Given the description of an element on the screen output the (x, y) to click on. 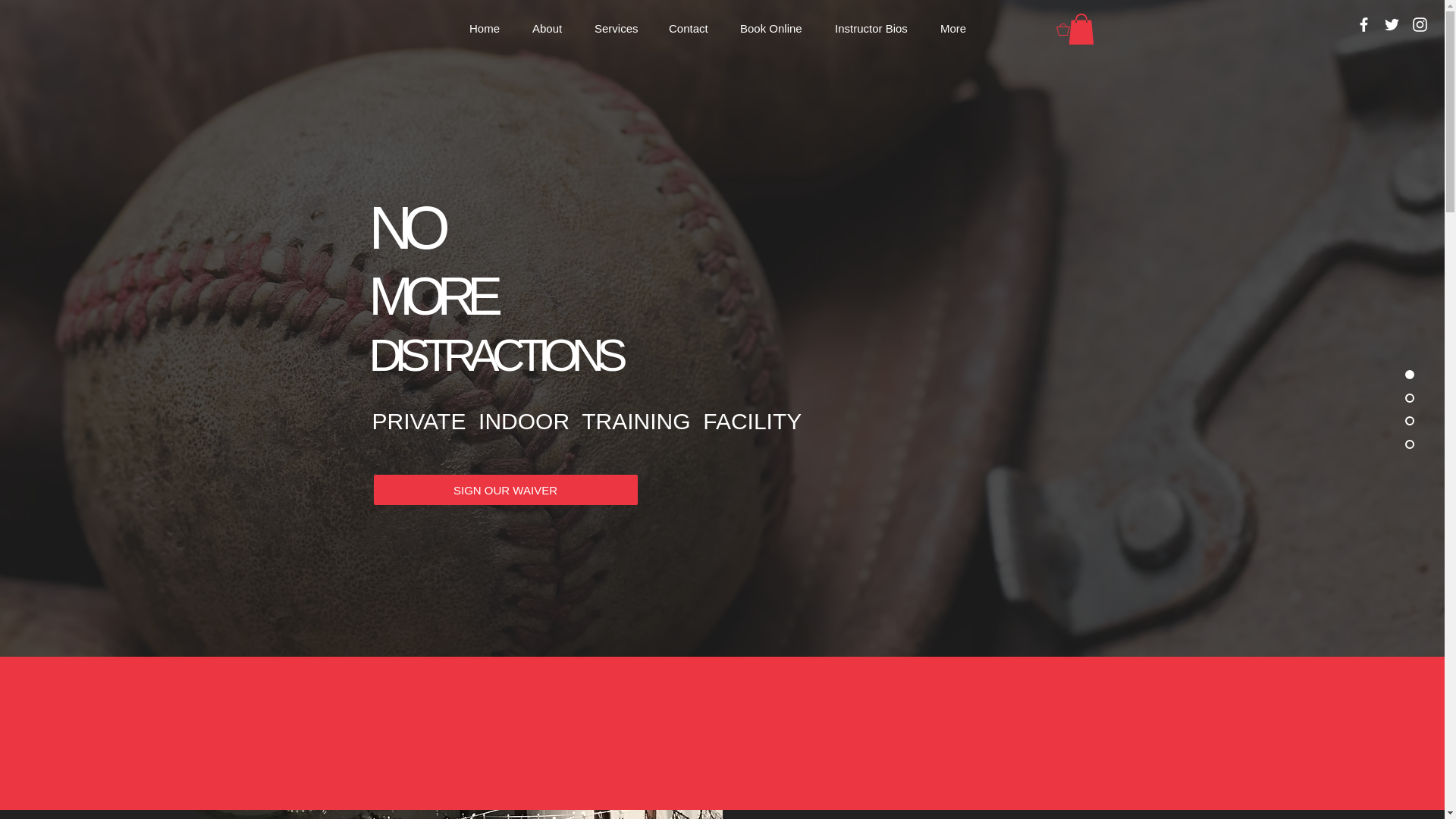
Book Online (776, 28)
SIGN OUR WAIVER (504, 490)
About (552, 28)
Home (489, 28)
Youth Baseball (458, 814)
Instructor Bios (876, 28)
Services (620, 28)
Contact (693, 28)
